Given the description of an element on the screen output the (x, y) to click on. 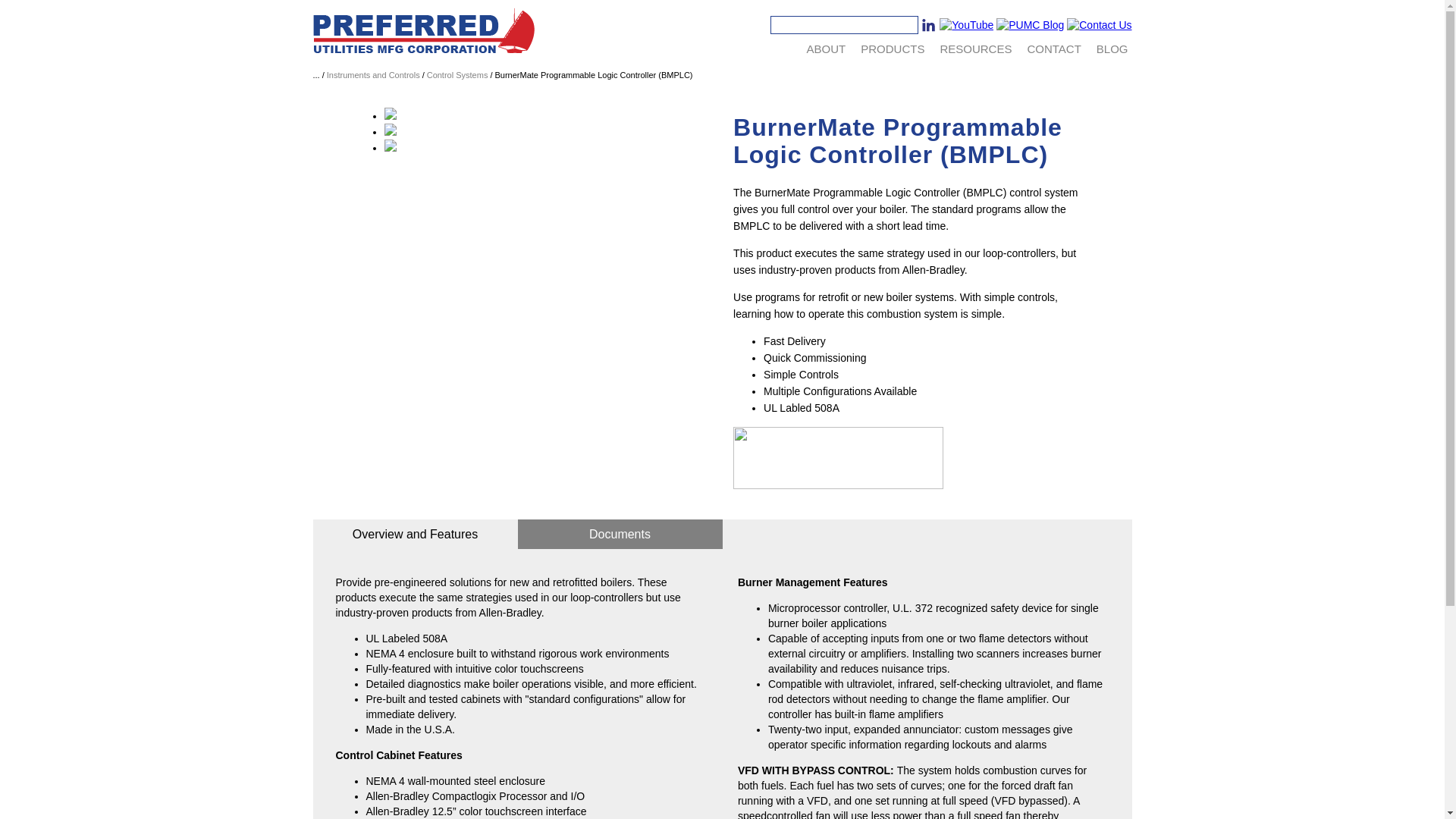
PRODUCTS (892, 48)
Resources (975, 48)
Products (892, 48)
BLOG (1112, 48)
RESOURCES (975, 48)
Contact Us (1053, 48)
Control Systems (456, 74)
ABOUT (826, 48)
CONTACT (1053, 48)
PUMC (424, 30)
